Given the description of an element on the screen output the (x, y) to click on. 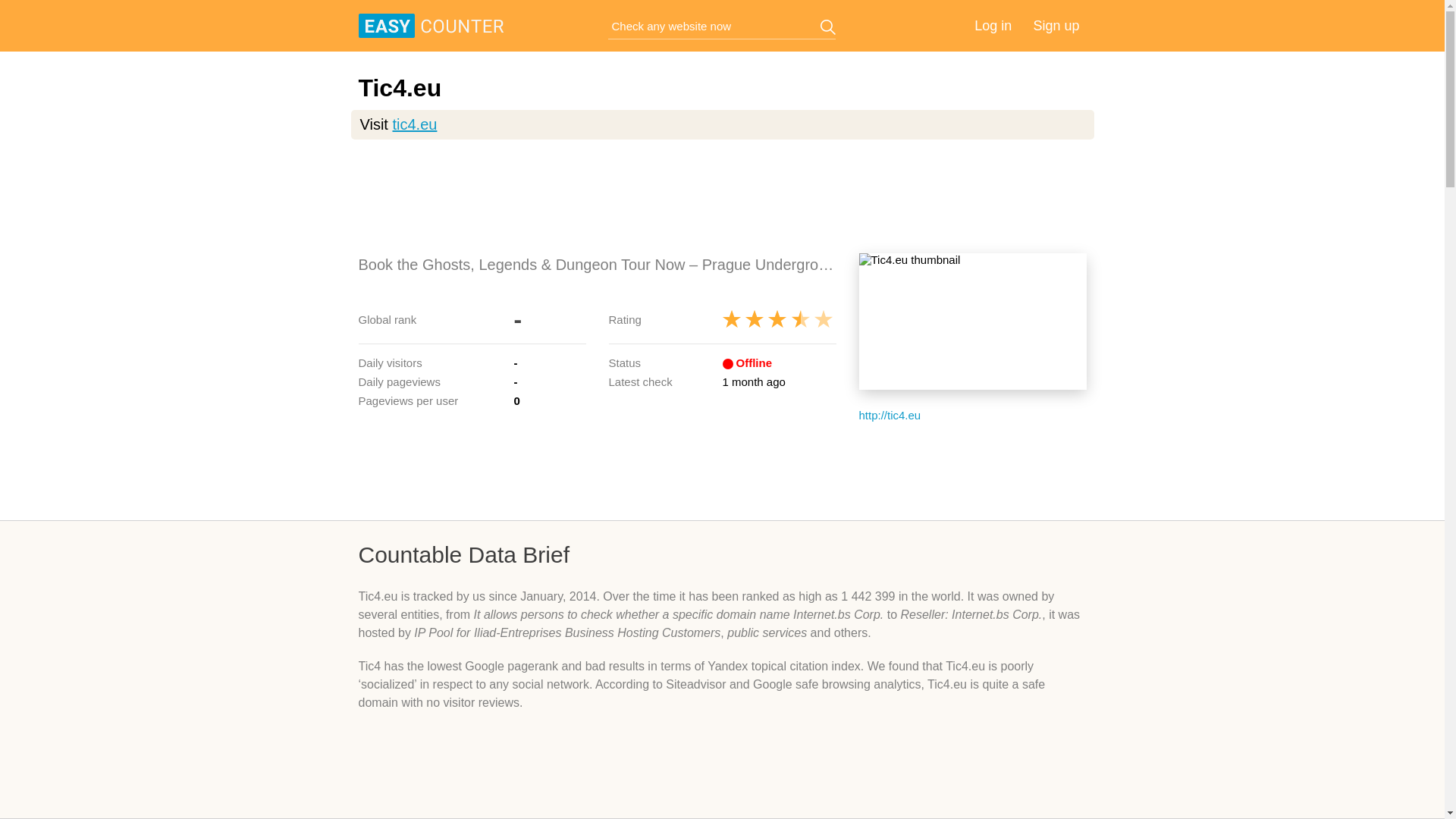
Tic4.eu thumbnail (972, 321)
Log in (992, 25)
tic4.eu (413, 124)
Sign up (1056, 25)
